Given the description of an element on the screen output the (x, y) to click on. 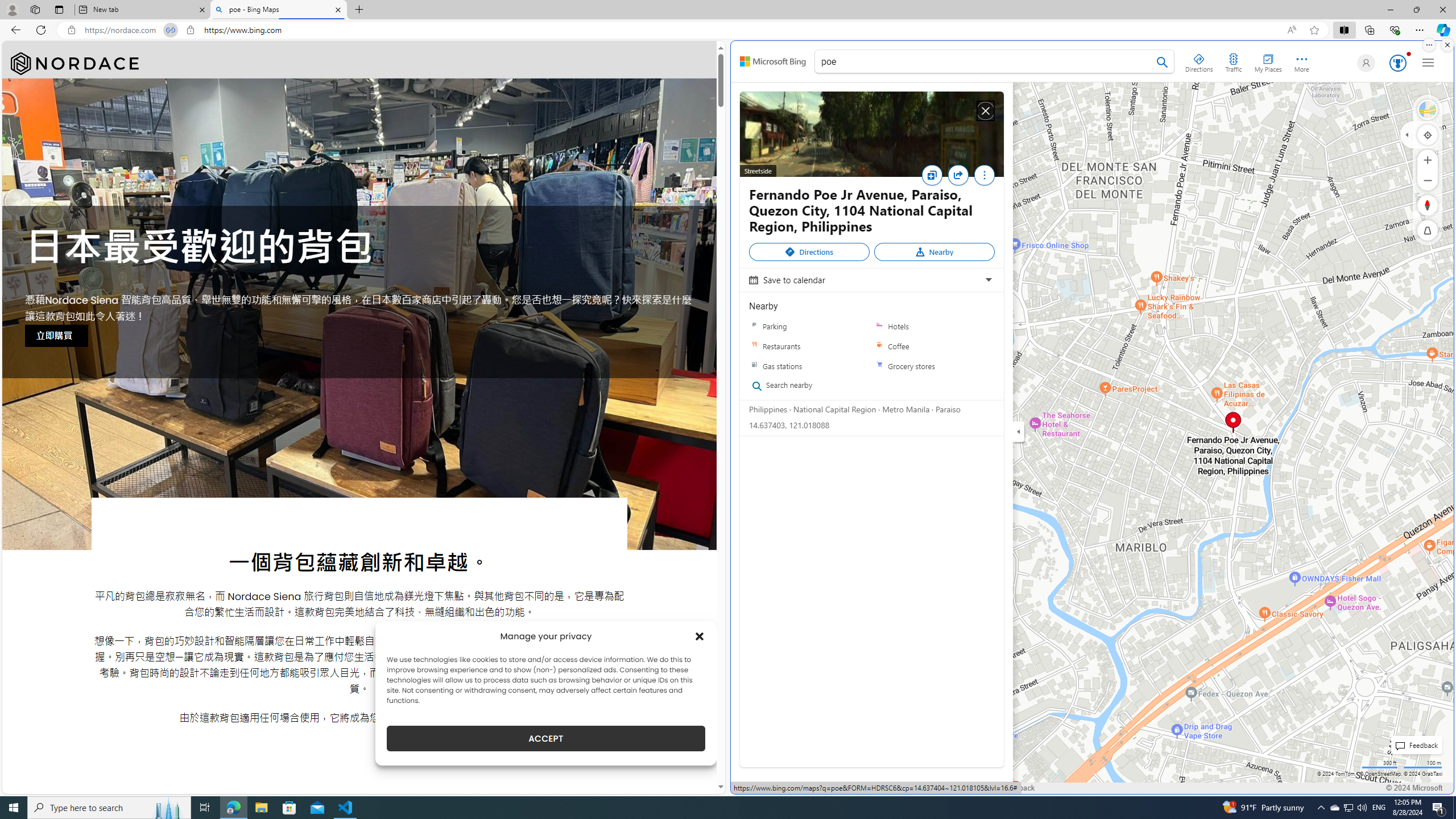
Search nearby (804, 385)
Hotels (879, 326)
Advertise (874, 787)
Back to Bing search (772, 60)
Streetside (871, 133)
Save (931, 174)
AutomationID: serp_medal_svg (1397, 63)
Help (977, 787)
More options. (1428, 45)
Microsoft Rewards 123 (1396, 63)
Coffee (879, 346)
Road (1427, 109)
poe - Bing Maps (277, 9)
Eugene (1363, 62)
Add this page to favorites (Ctrl+D) (1314, 29)
